Given the description of an element on the screen output the (x, y) to click on. 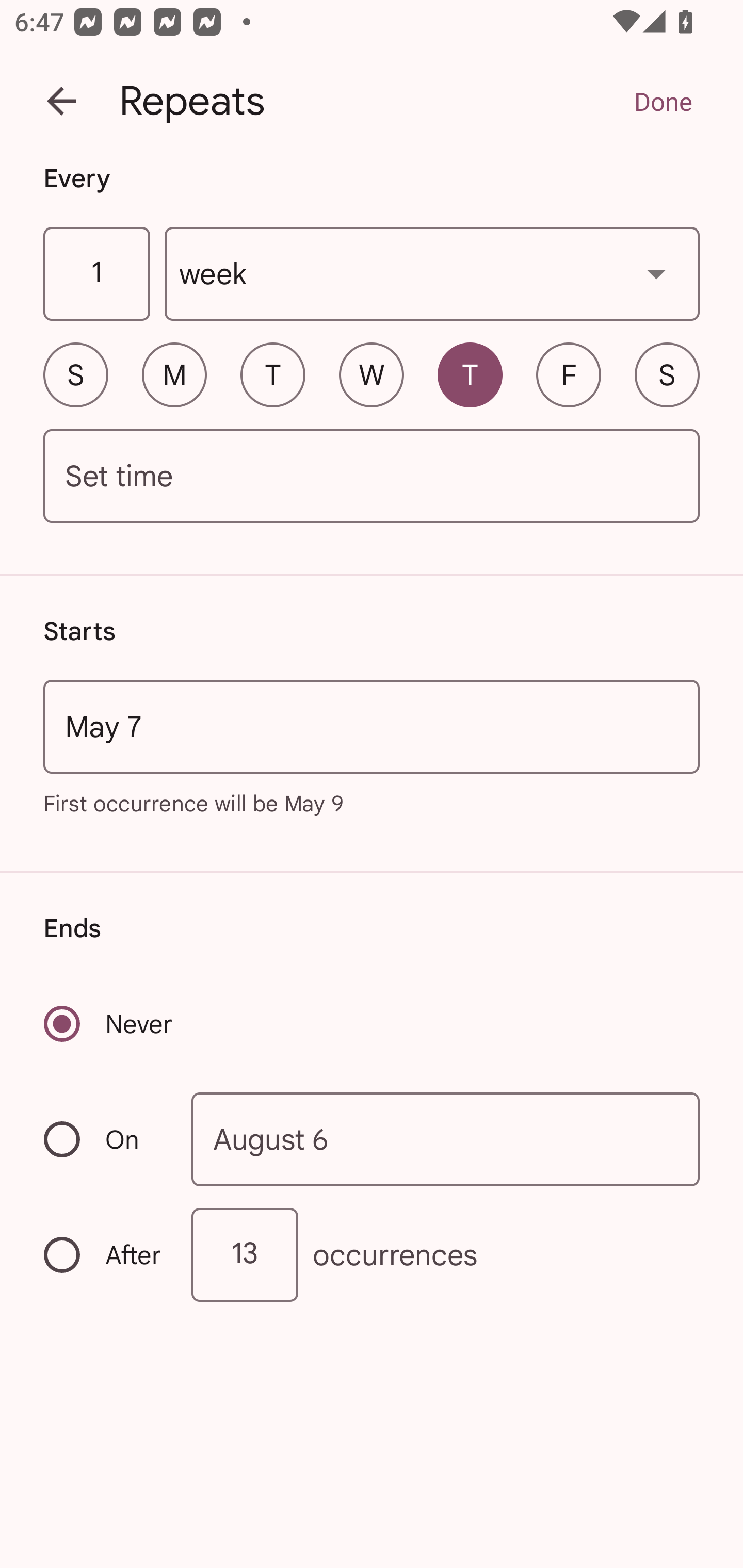
Back (61, 101)
Done (663, 101)
1 (96, 274)
week (431, 274)
Show dropdown menu (655, 273)
S Sunday (75, 374)
M Monday (173, 374)
T Tuesday (272, 374)
W Wednesday (371, 374)
T Thursday, selected (469, 374)
F Friday (568, 374)
S Saturday (666, 374)
Set time (371, 476)
May 7 (371, 726)
Never Recurrence never ends (109, 1023)
August 6 (445, 1139)
On Recurrence ends on a specific date (104, 1138)
13 (244, 1254)
